Given the description of an element on the screen output the (x, y) to click on. 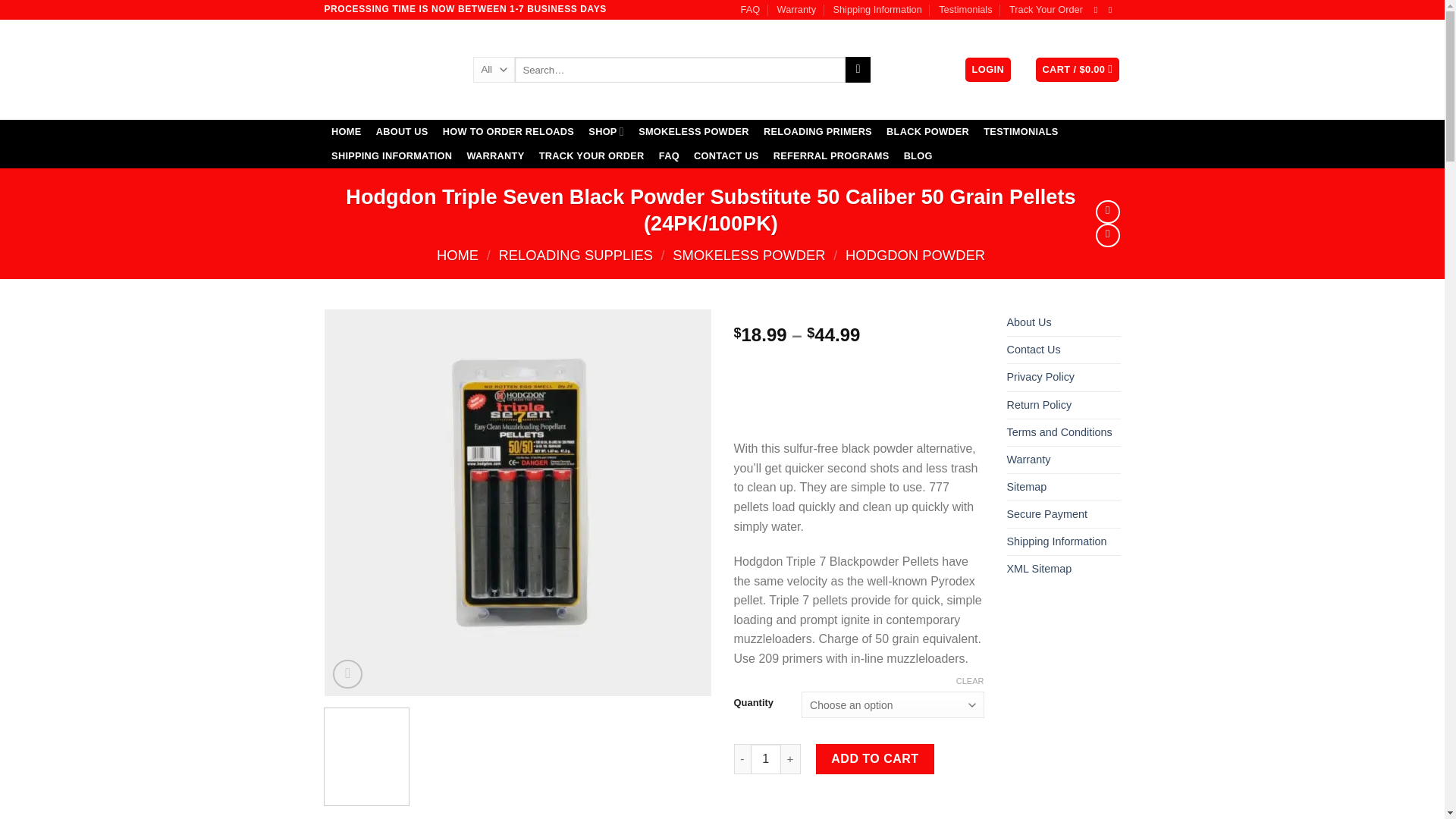
Cart (1077, 69)
HOME (346, 131)
ABOUT US (401, 131)
Testimonials (965, 9)
Search (857, 69)
Warranty (796, 9)
FAQ (750, 9)
LOGIN (987, 69)
1 (765, 758)
SHOP (605, 131)
HOW TO ORDER RELOADS (507, 131)
Shipping Information (876, 9)
Track Your Order (1046, 9)
